Given the description of an element on the screen output the (x, y) to click on. 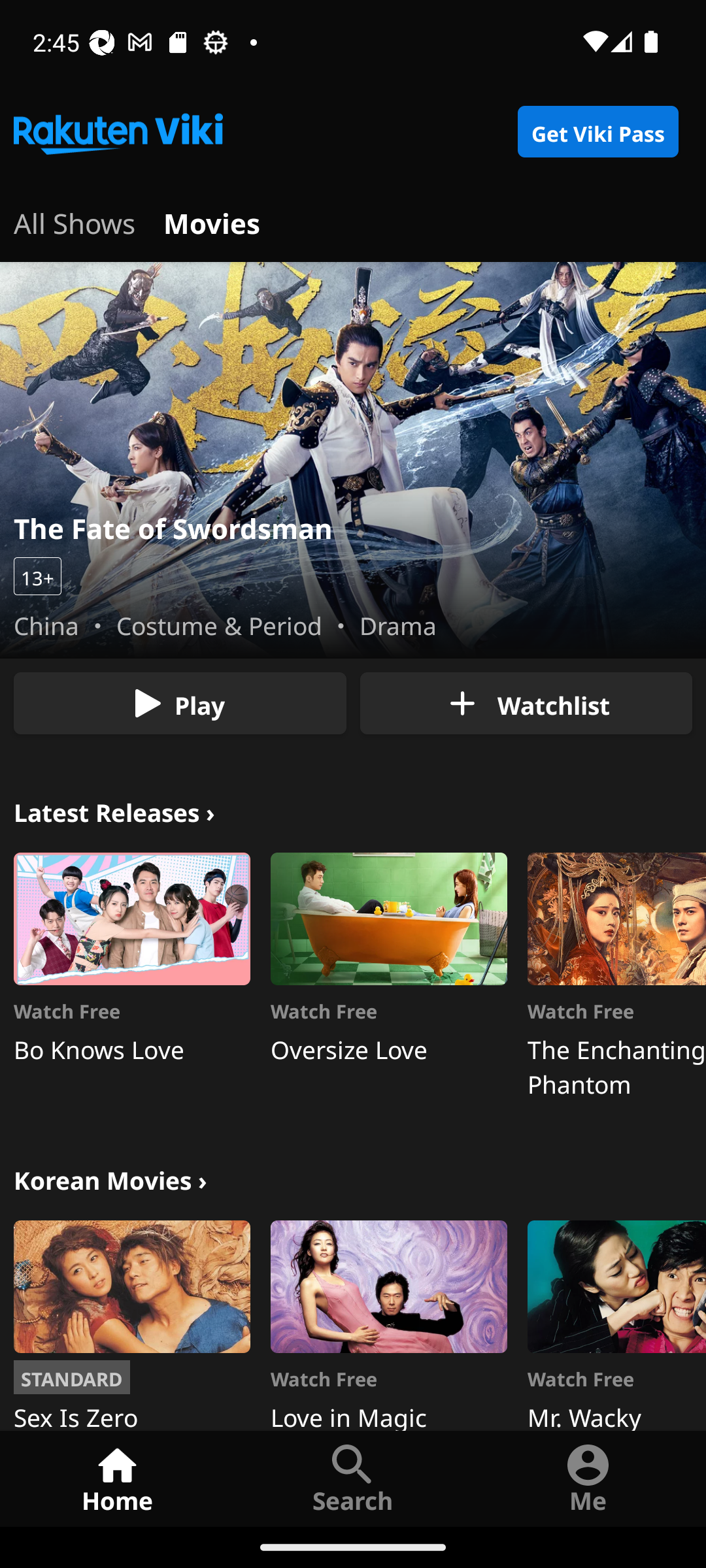
Get Viki Pass (597, 131)
home_tab_all_shows All Shows (74, 220)
Play home_billboard_play_button (179, 702)
Watchlist home_billboard_add_to_watchlist_button (526, 702)
Latest Releases › latest_releases_movies (114, 809)
Korean Movies › korean_movies_trending (110, 1178)
Search (352, 1478)
Me (588, 1478)
